Given the description of an element on the screen output the (x, y) to click on. 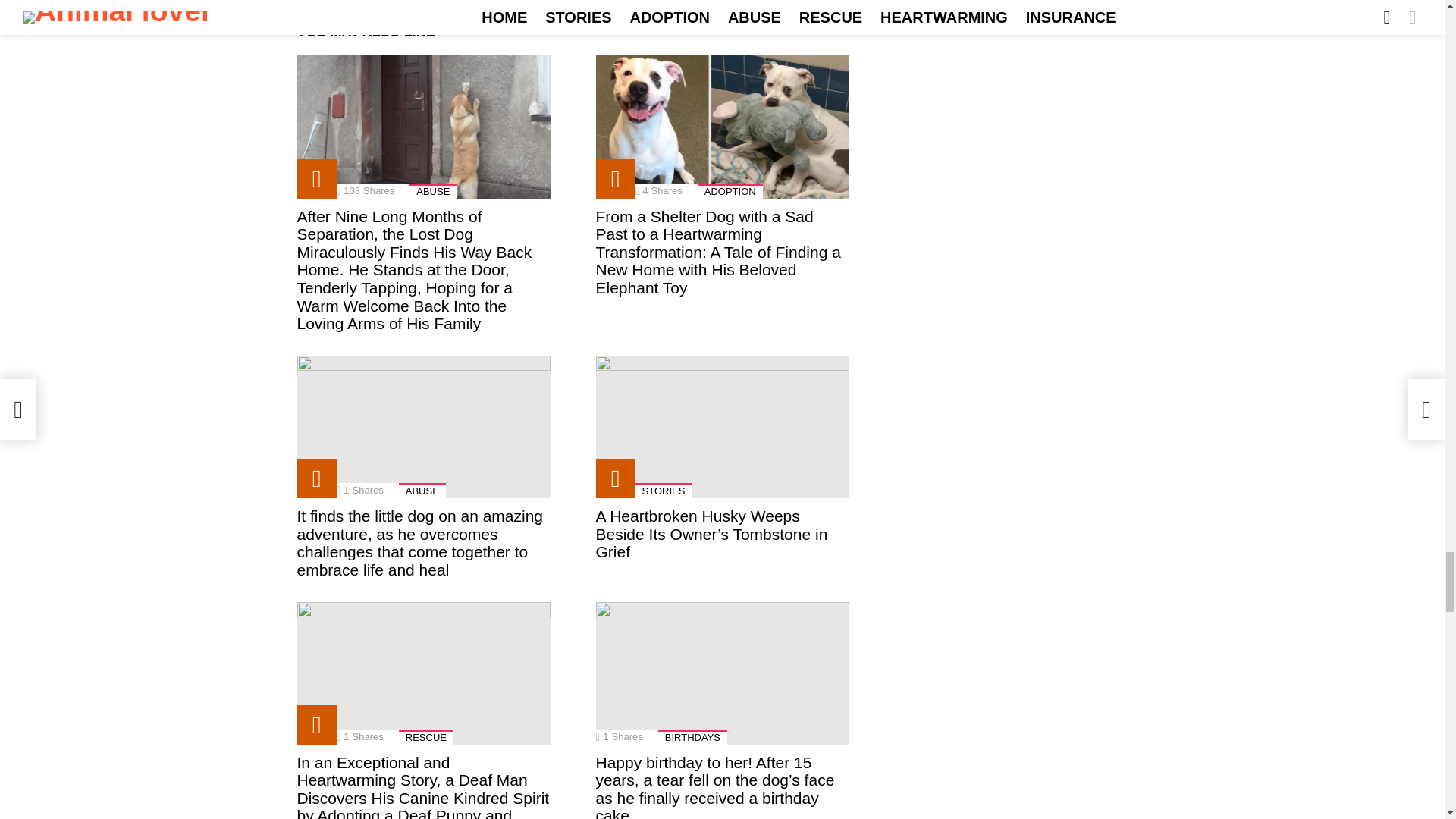
ABUSE (433, 191)
Trending (316, 178)
ADOPTION (729, 191)
Trending (316, 178)
Trending (316, 477)
Trending (614, 178)
ABUSE (421, 490)
